Given the description of an element on the screen output the (x, y) to click on. 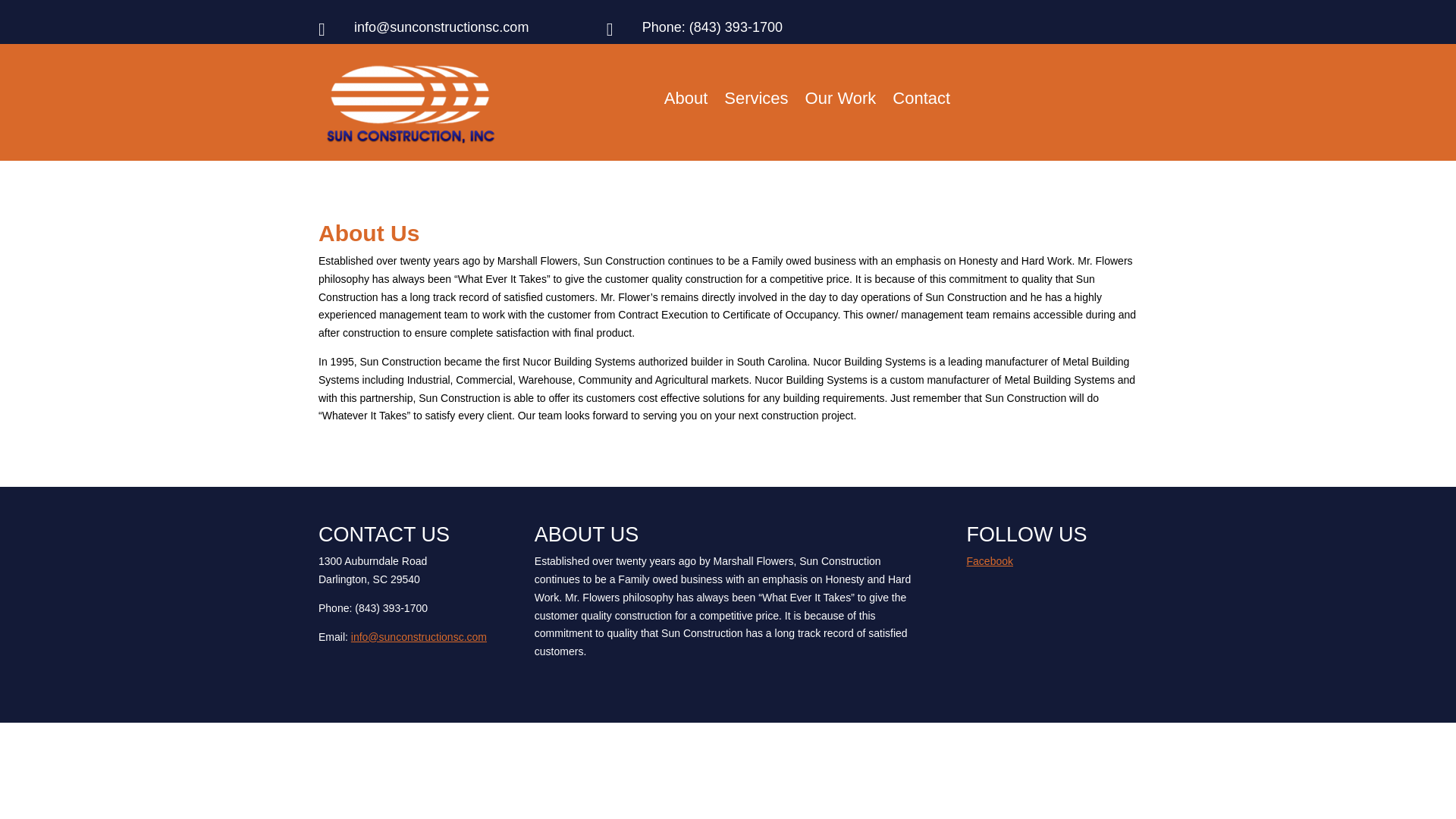
cropped-logo-2 (409, 103)
About (685, 101)
Services (755, 101)
Our Work (840, 101)
Contact (921, 101)
Facebook (989, 561)
